Given the description of an element on the screen output the (x, y) to click on. 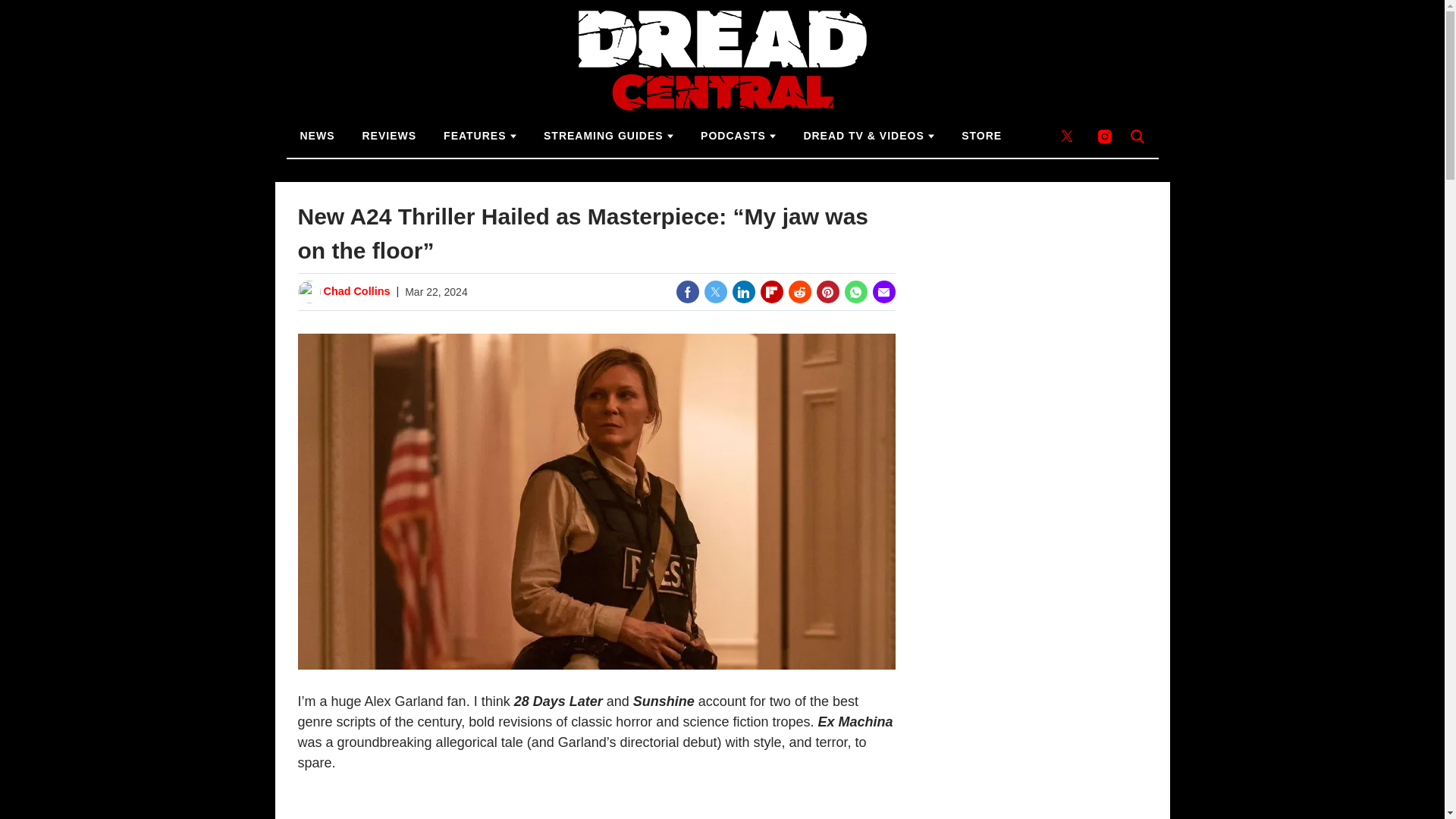
PODCASTS (738, 136)
STREAMING GUIDES (608, 136)
Posts by Chad Collins (356, 291)
Share on LinkedIn (743, 291)
Share on Facebook (687, 291)
Share on Reddit (799, 291)
Share on Flipboard (771, 291)
Chad Collins (356, 291)
NEWS (317, 136)
Share on Twitter (714, 291)
REVIEWS (389, 136)
STORE (980, 136)
Share on Pinterest (826, 291)
FEATURES (479, 136)
